Given the description of an element on the screen output the (x, y) to click on. 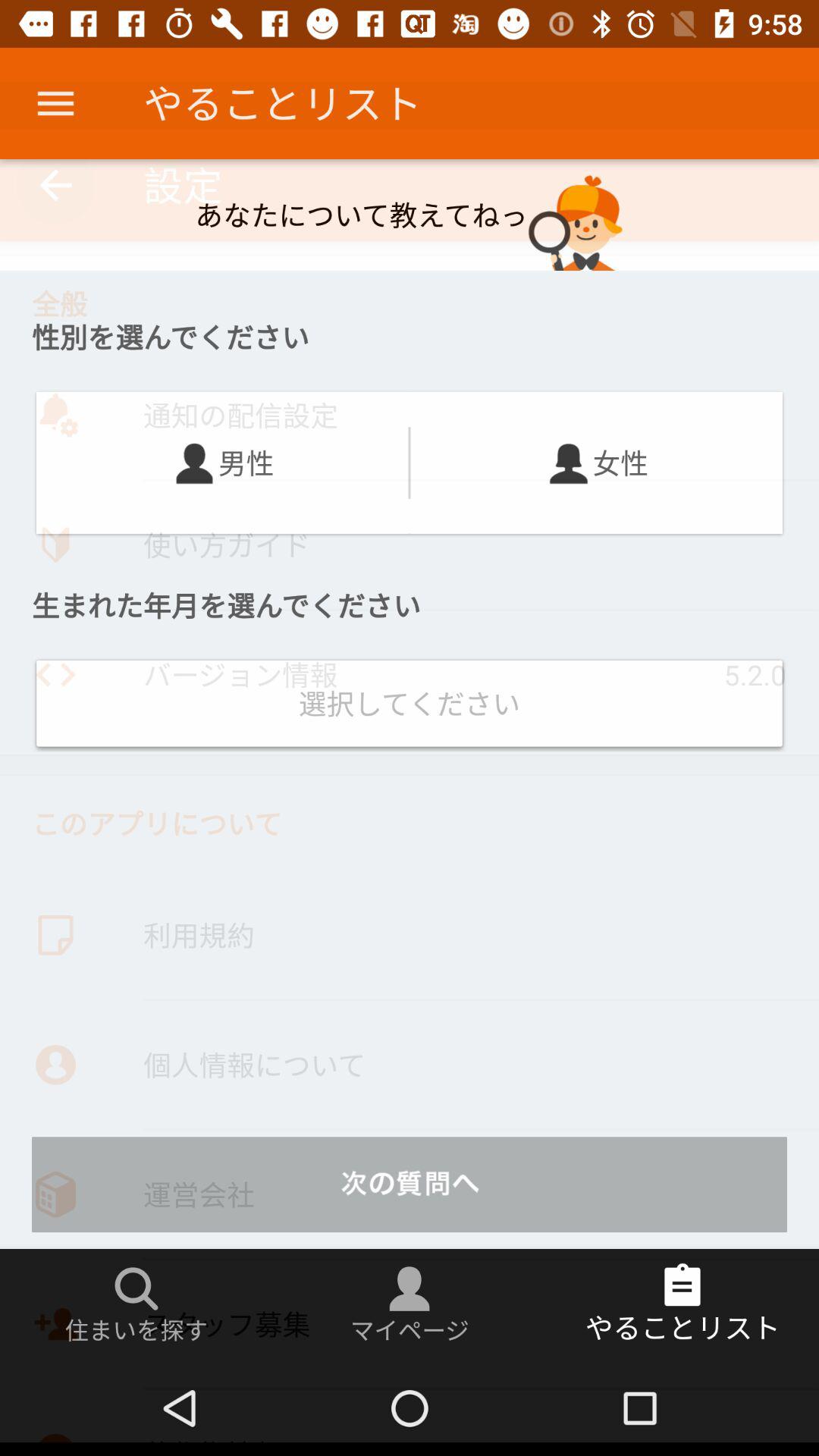
click on the second icon (568, 462)
click the  search button (136, 1289)
